Given the description of an element on the screen output the (x, y) to click on. 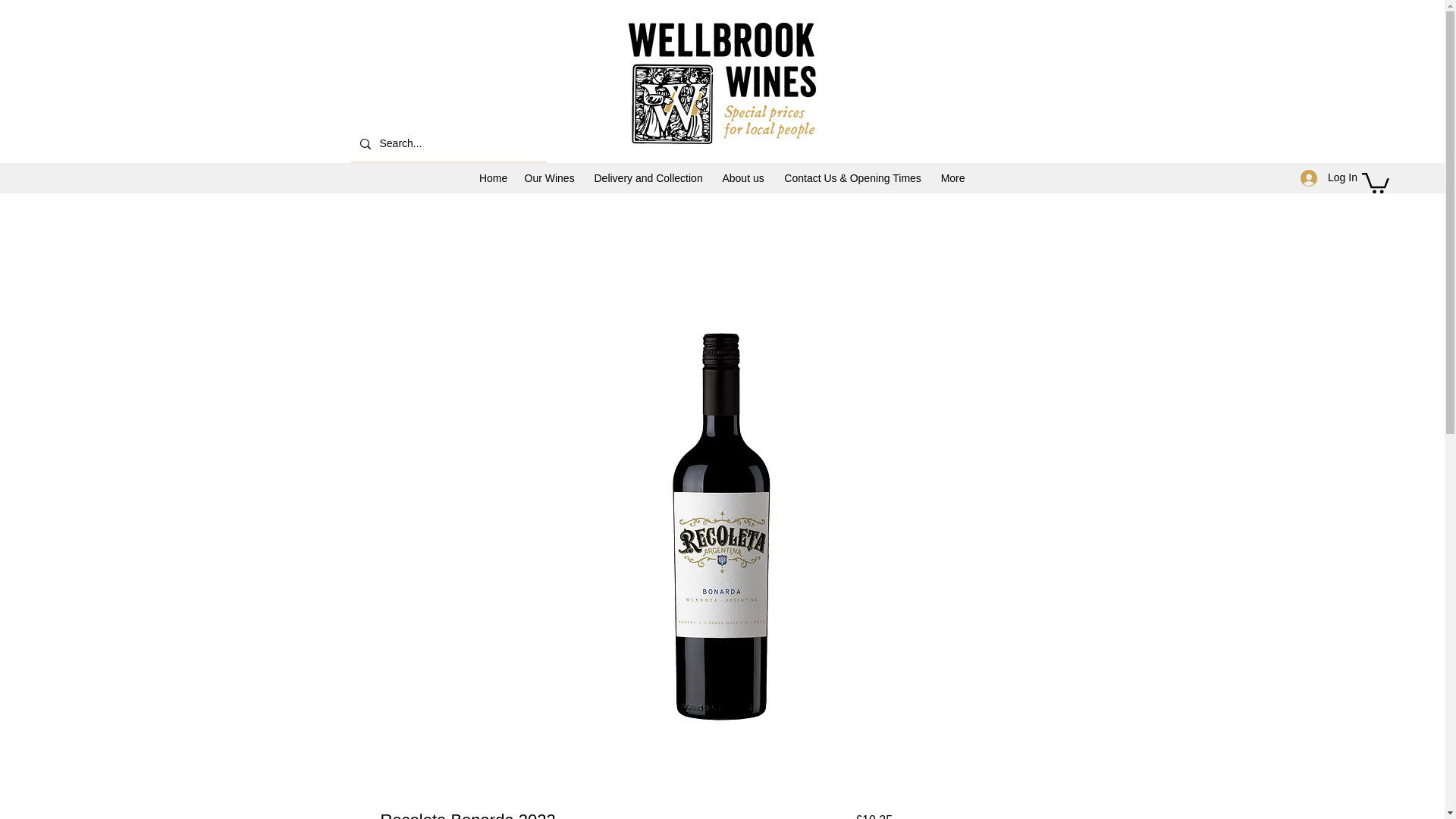
About us (743, 178)
Home (492, 178)
Delivery and Collection (648, 178)
Log In (1324, 177)
